Given the description of an element on the screen output the (x, y) to click on. 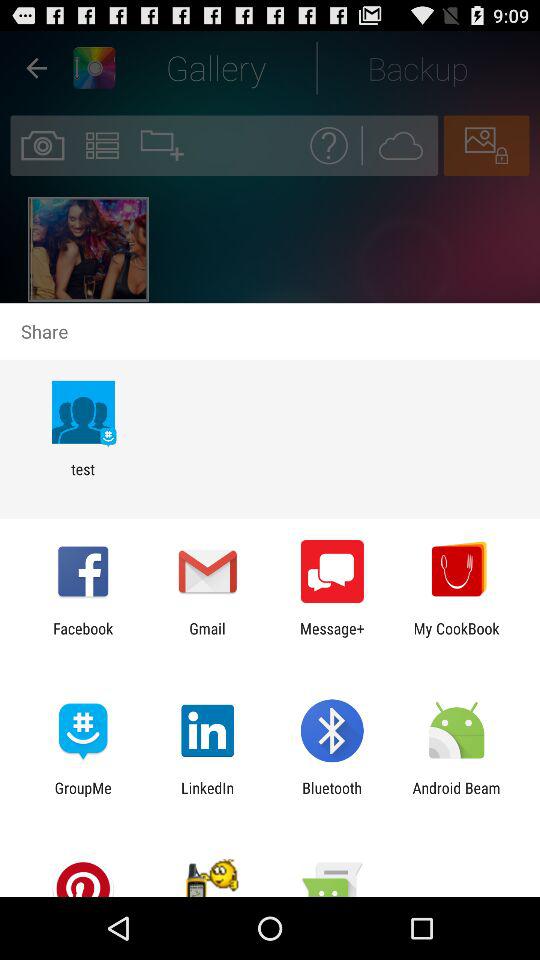
tap the icon next to the bluetooth item (207, 796)
